Given the description of an element on the screen output the (x, y) to click on. 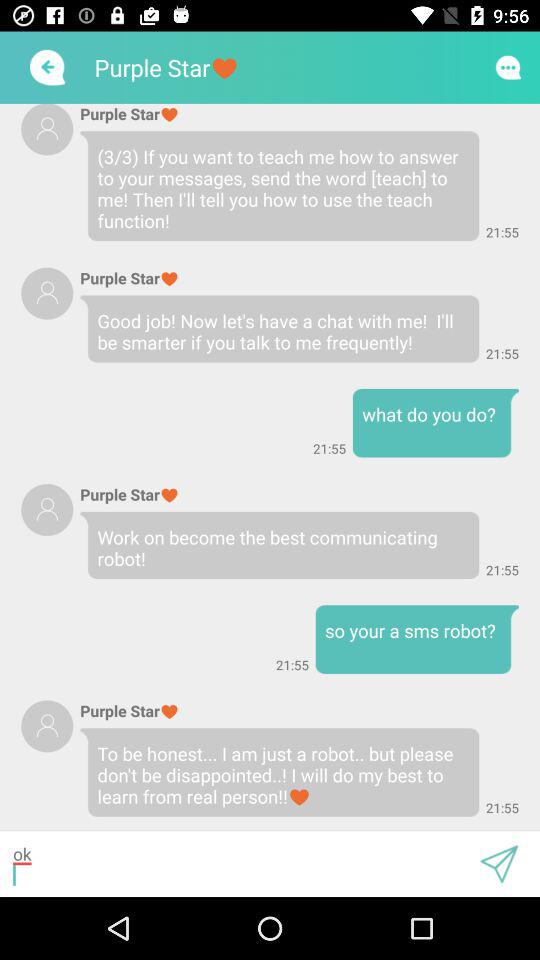
view profile picture (47, 129)
